Given the description of an element on the screen output the (x, y) to click on. 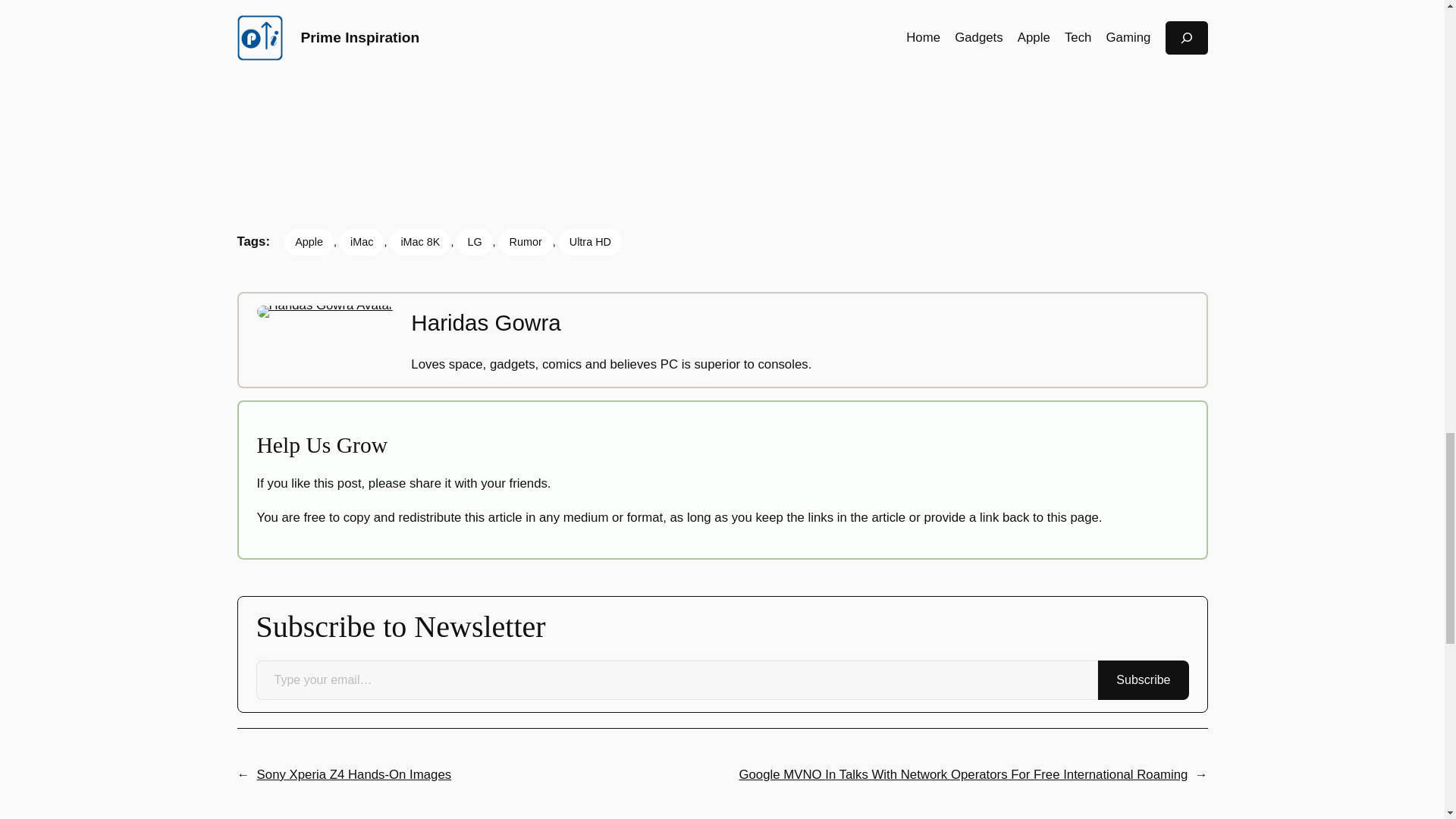
LG (474, 241)
Haridas Gowra (485, 322)
Rumor (526, 241)
Apple (308, 241)
Ultra HD (590, 241)
iMac (361, 241)
iMac 8K (419, 241)
